Given the description of an element on the screen output the (x, y) to click on. 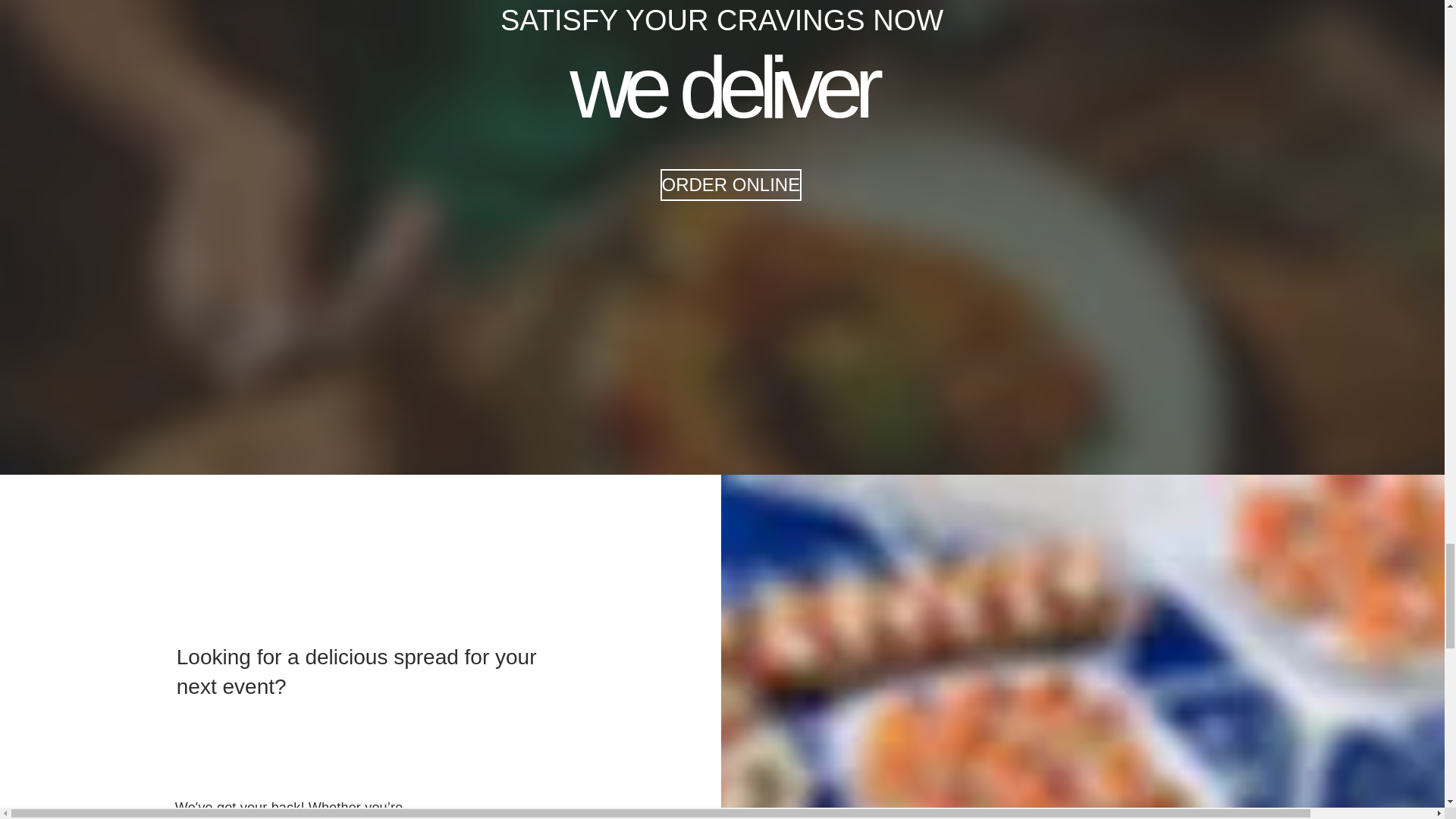
ORDER ONLINE (730, 184)
